Given the description of an element on the screen output the (x, y) to click on. 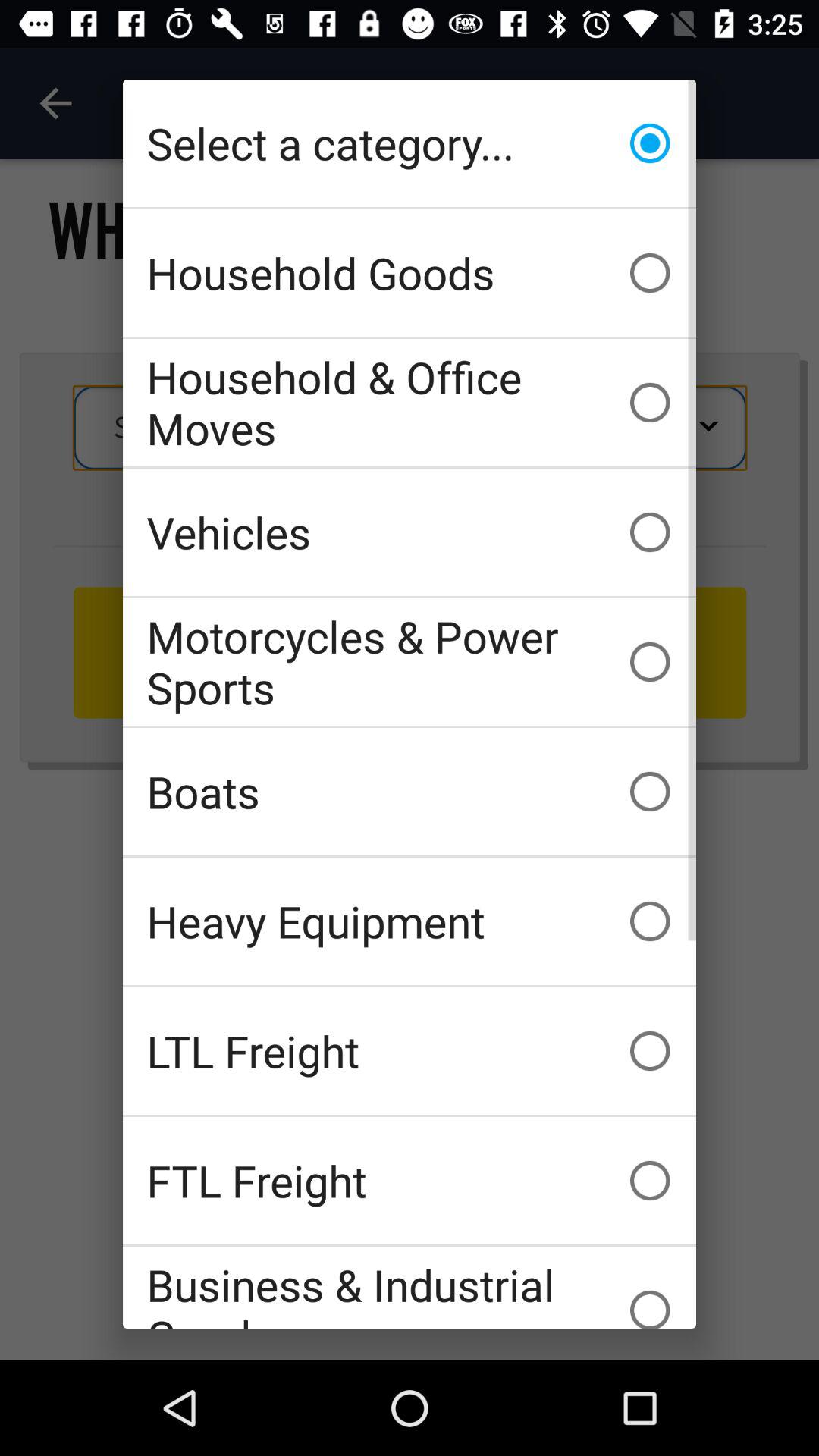
launch the icon above motorcycles & power sports icon (409, 532)
